Given the description of an element on the screen output the (x, y) to click on. 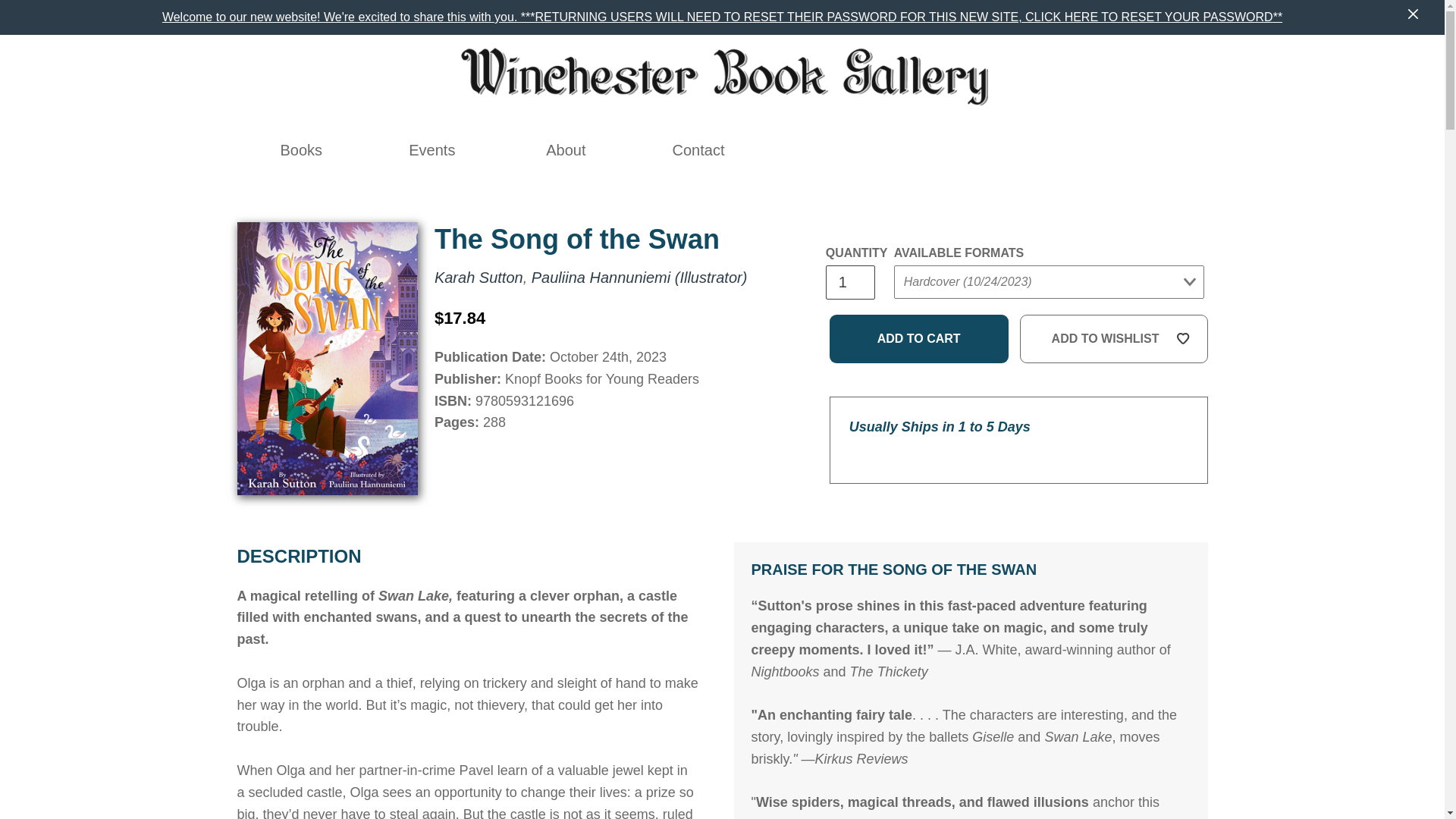
Contact (698, 150)
Karah Sutton (477, 277)
Events (431, 150)
Books (301, 150)
Wishlists (1055, 150)
Add to cart (919, 338)
Cart (1088, 150)
Search (989, 150)
SEARCH (989, 150)
Log in (1022, 150)
